Given the description of an element on the screen output the (x, y) to click on. 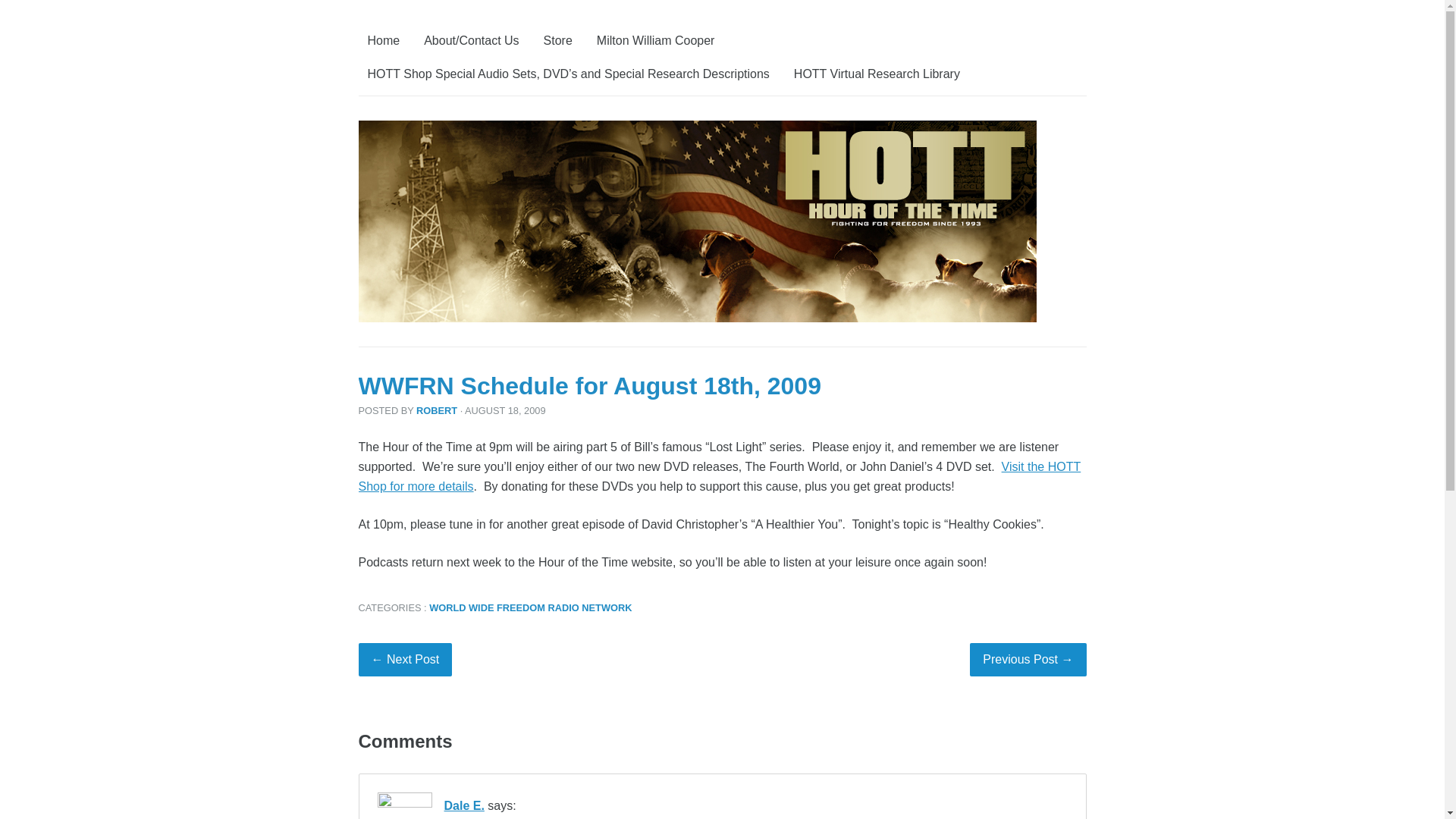
ROBERT (436, 410)
WORLD WIDE FREEDOM RADIO NETWORK (530, 607)
Visit the HOTT Shop for more details (719, 476)
Home (383, 40)
Hour of the Time Video page! (719, 476)
Dale E. (464, 805)
Store (557, 40)
Milton William Cooper (655, 40)
WWFRN Schedule for August 18th, 2009 (589, 385)
robert (436, 410)
HOTT Virtual Research Library (876, 73)
